Given the description of an element on the screen output the (x, y) to click on. 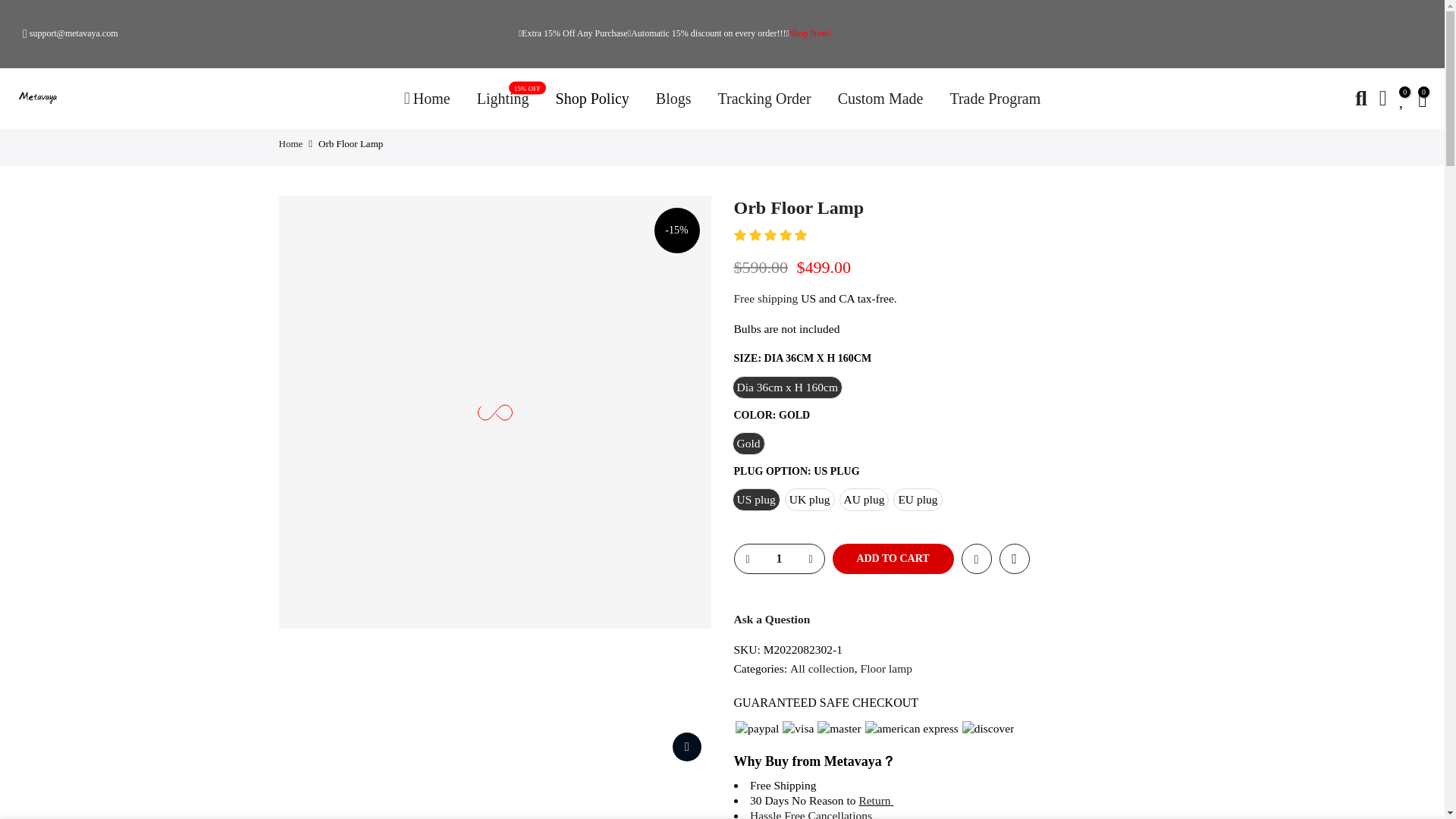
Shop Policy (591, 97)
Tracking Order (764, 97)
Blogs (673, 97)
0 (1402, 97)
Home (426, 97)
1 (778, 558)
Custom Made (880, 97)
Trade Program (995, 97)
